Given the description of an element on the screen output the (x, y) to click on. 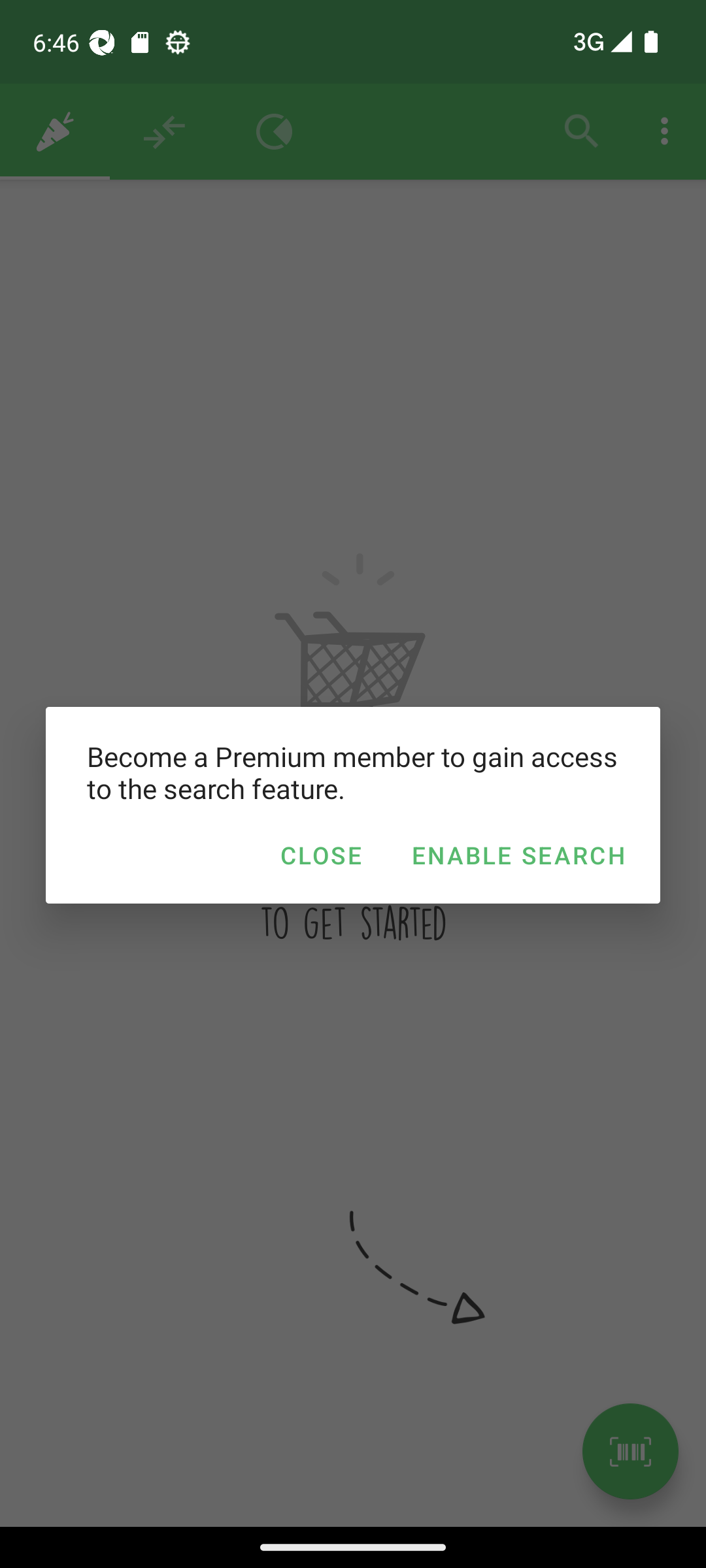
CLOSE (320, 854)
ENABLE SEARCH (517, 854)
